Given the description of an element on the screen output the (x, y) to click on. 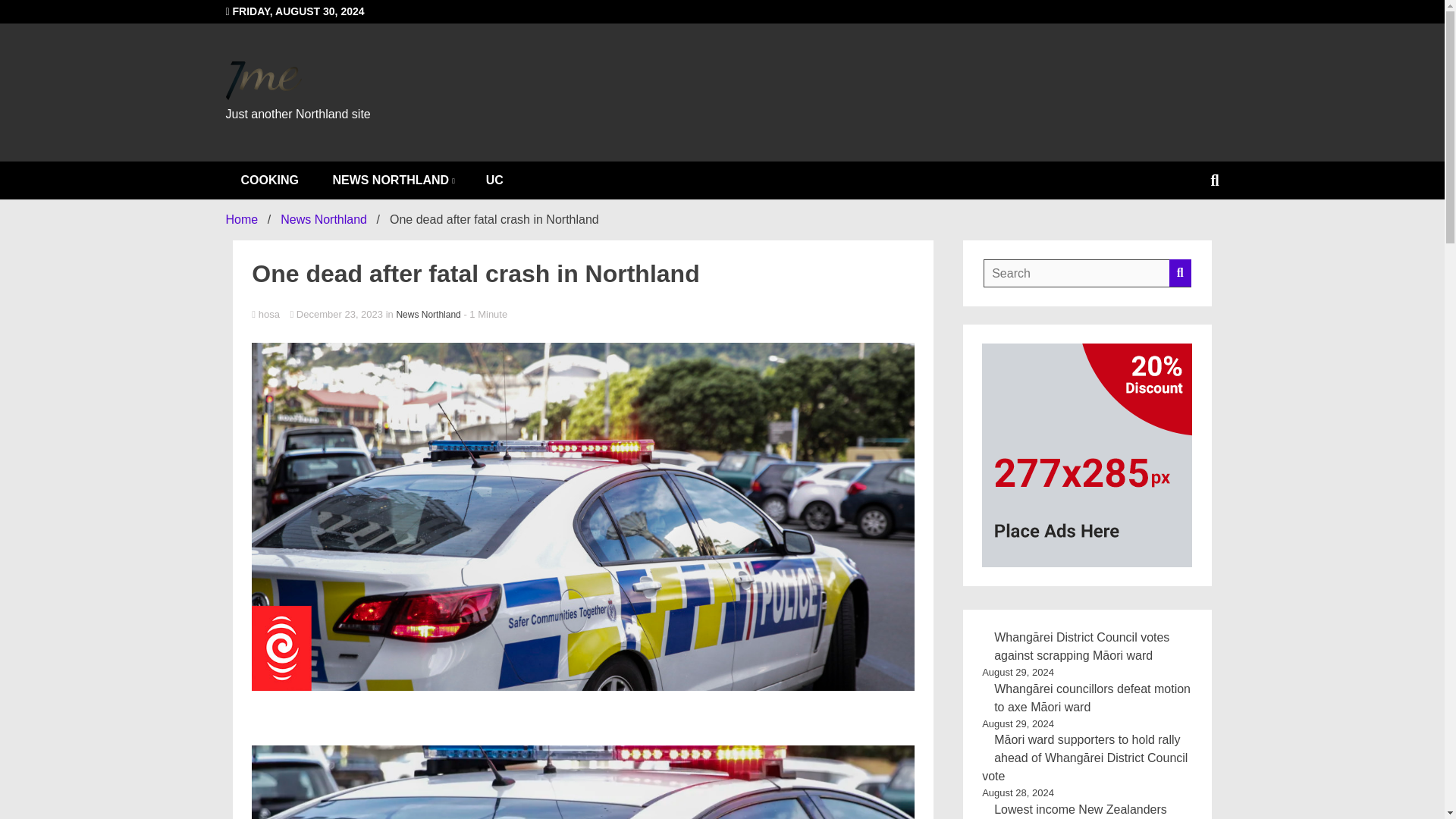
News Northland (323, 219)
Estimated Reading Time of Article (484, 314)
NEWS NORTHLAND (392, 180)
Home (242, 219)
News Northland (428, 314)
UC (494, 180)
December 23, 2023 (337, 314)
hosa (582, 314)
COOKING (269, 180)
